Given the description of an element on the screen output the (x, y) to click on. 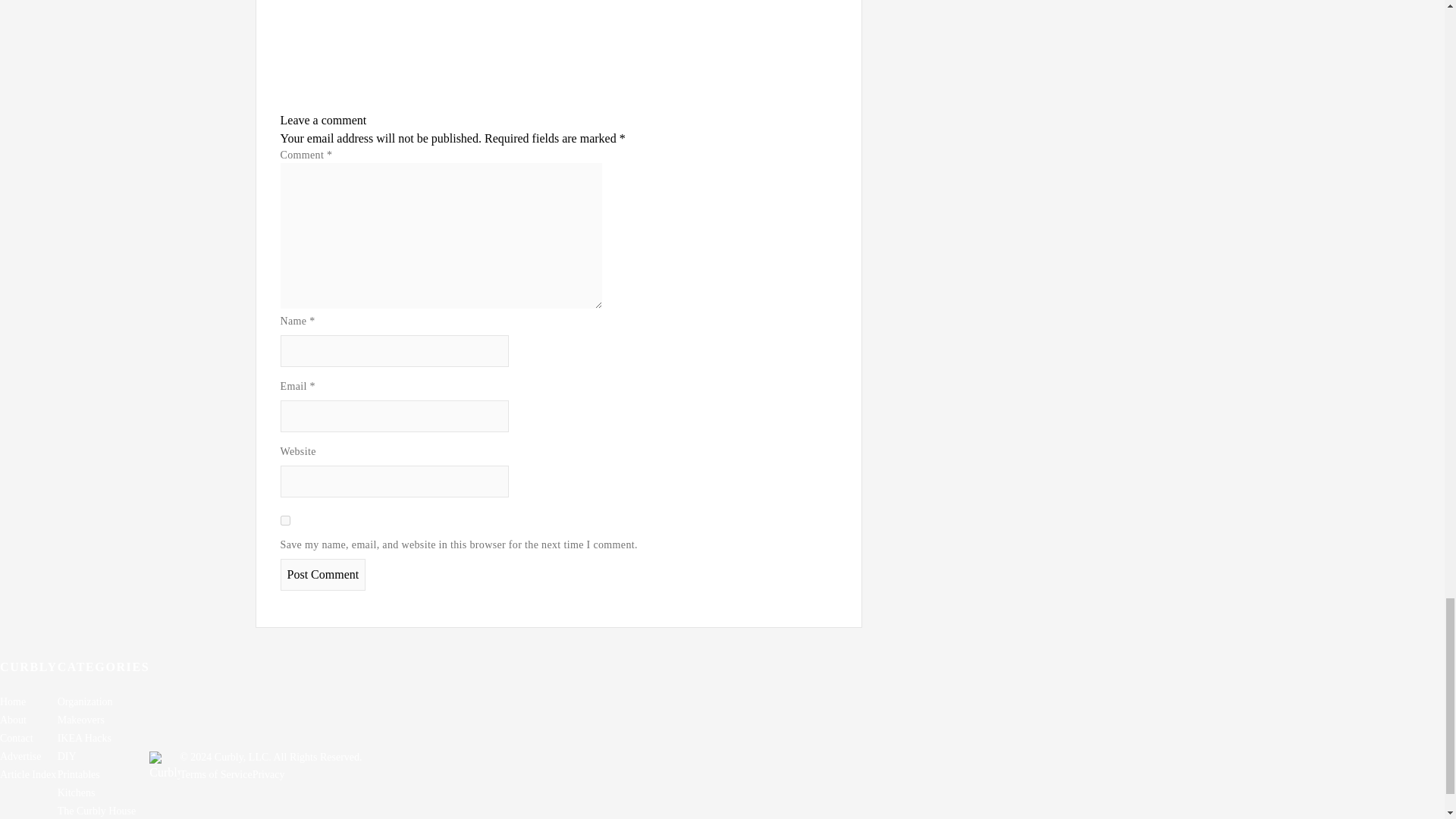
Post Comment (323, 574)
Post Comment (323, 574)
yes (285, 520)
